Given the description of an element on the screen output the (x, y) to click on. 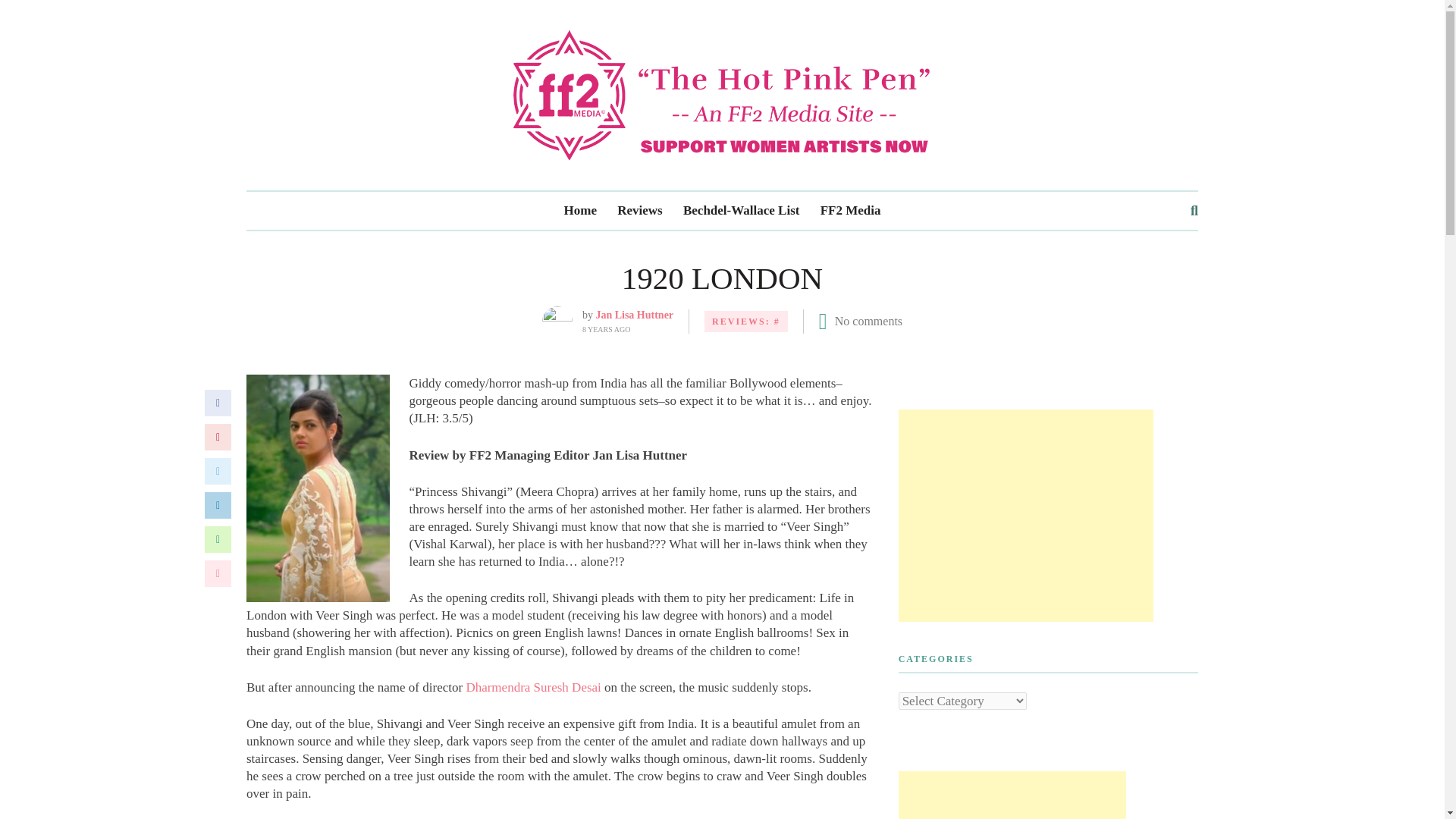
The Hot Pink Pen (722, 94)
Jan Lisa Huttner (633, 315)
FF2 Media (850, 210)
Reviews (639, 210)
Bechdel-Wallace List (740, 210)
No comments (868, 320)
